Given the description of an element on the screen output the (x, y) to click on. 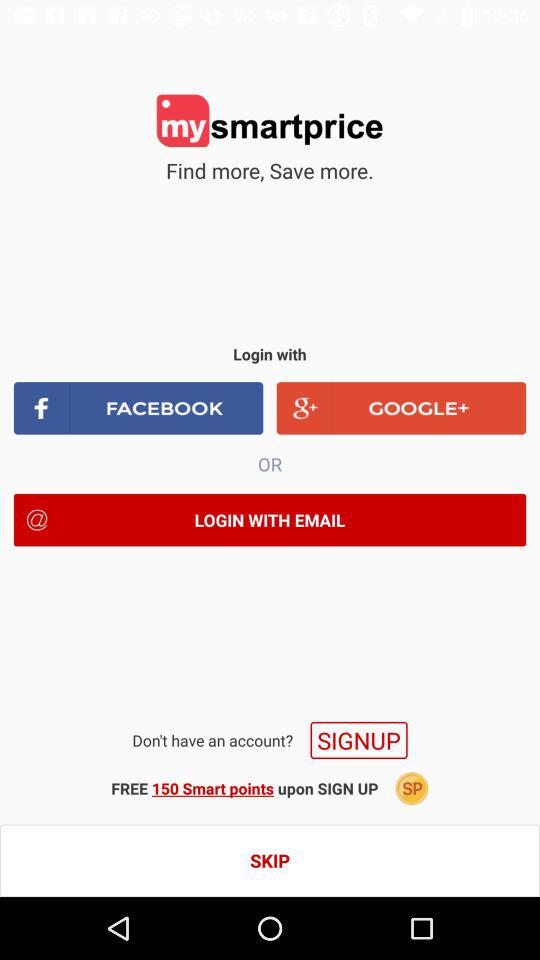
swipe to signup item (358, 739)
